Given the description of an element on the screen output the (x, y) to click on. 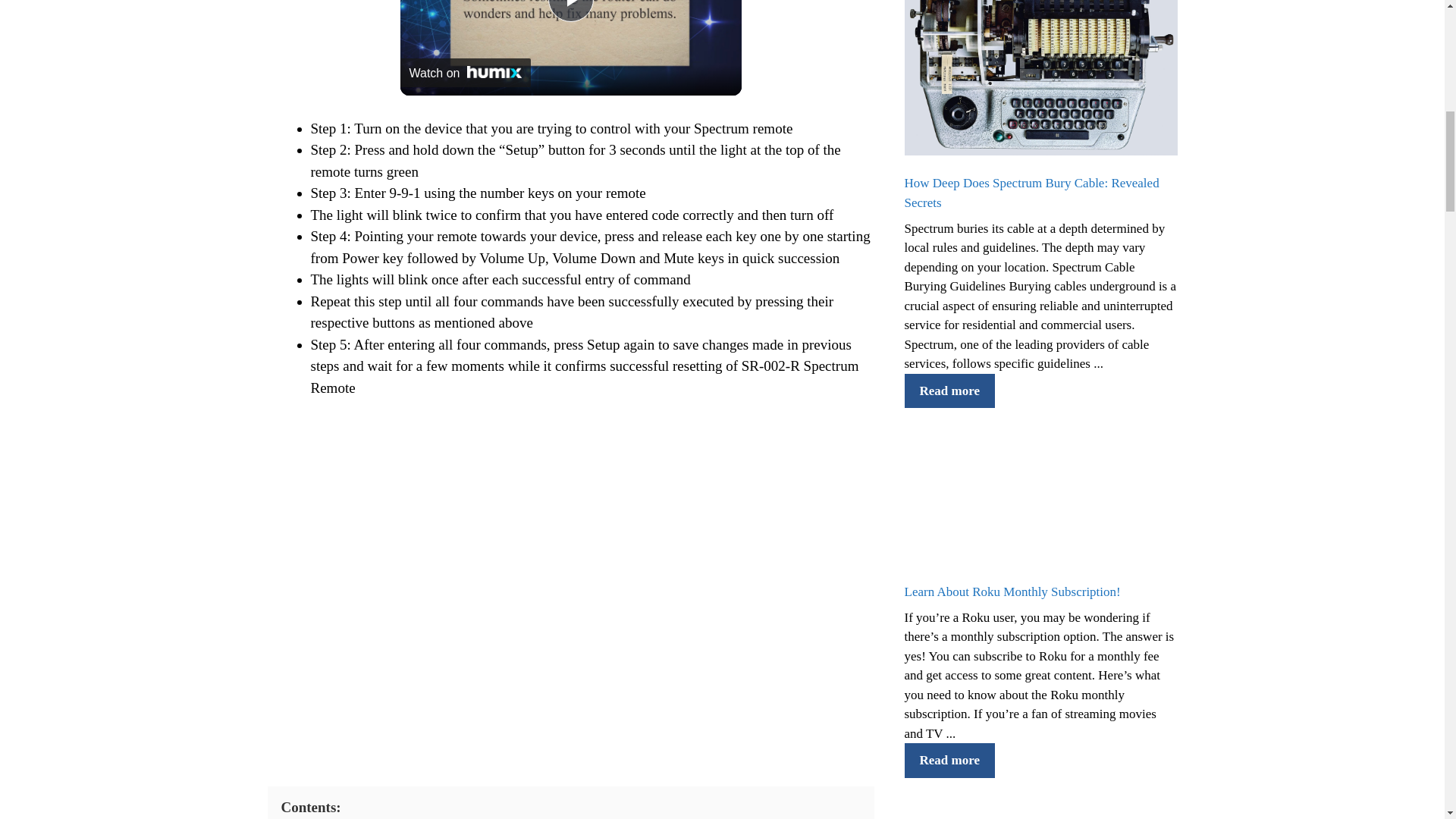
Play Video (569, 11)
Play Video (569, 11)
